Given the description of an element on the screen output the (x, y) to click on. 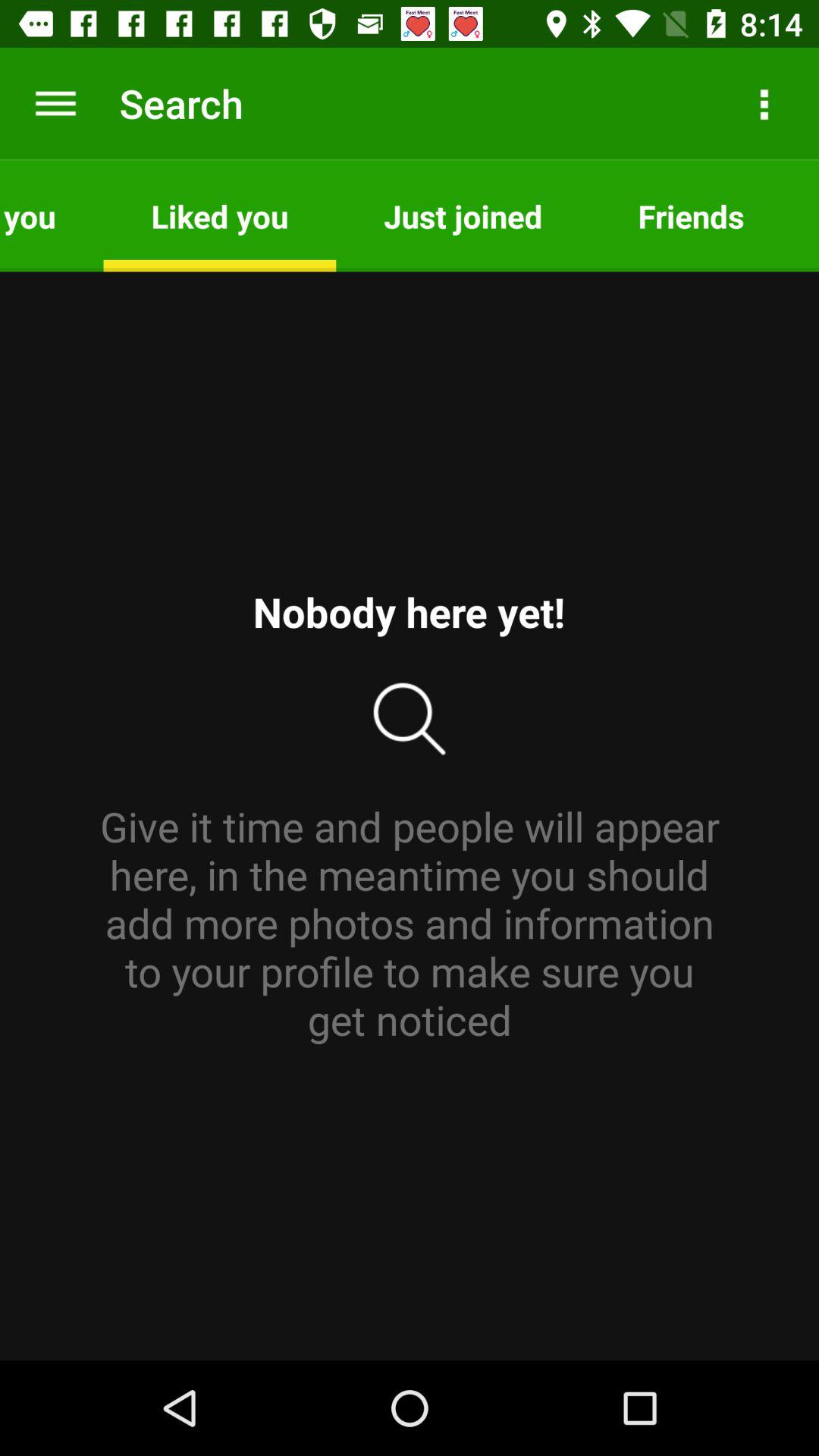
launch item to the left of the search icon (55, 103)
